Given the description of an element on the screen output the (x, y) to click on. 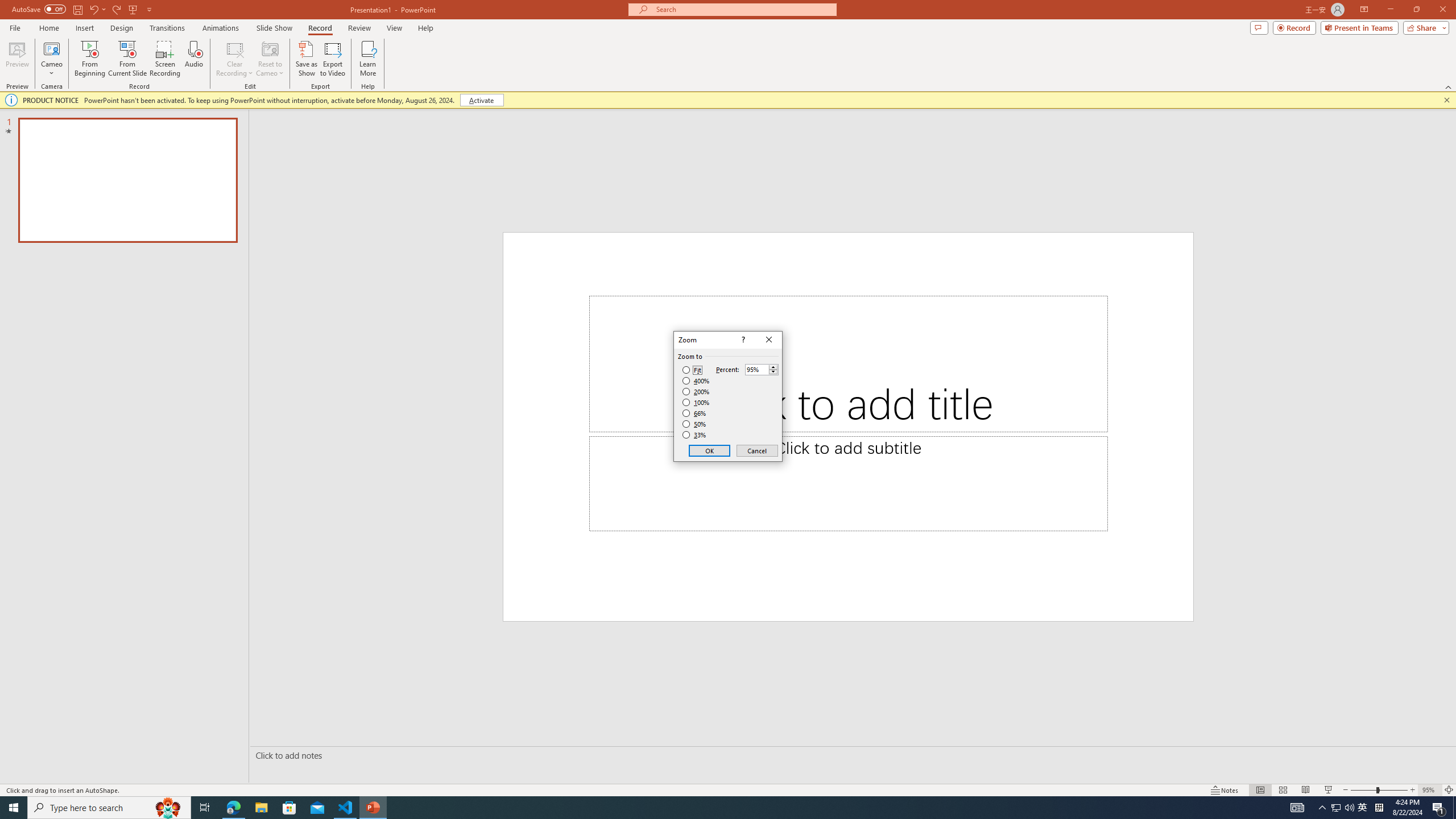
100% (696, 402)
50% (694, 424)
